Given the description of an element on the screen output the (x, y) to click on. 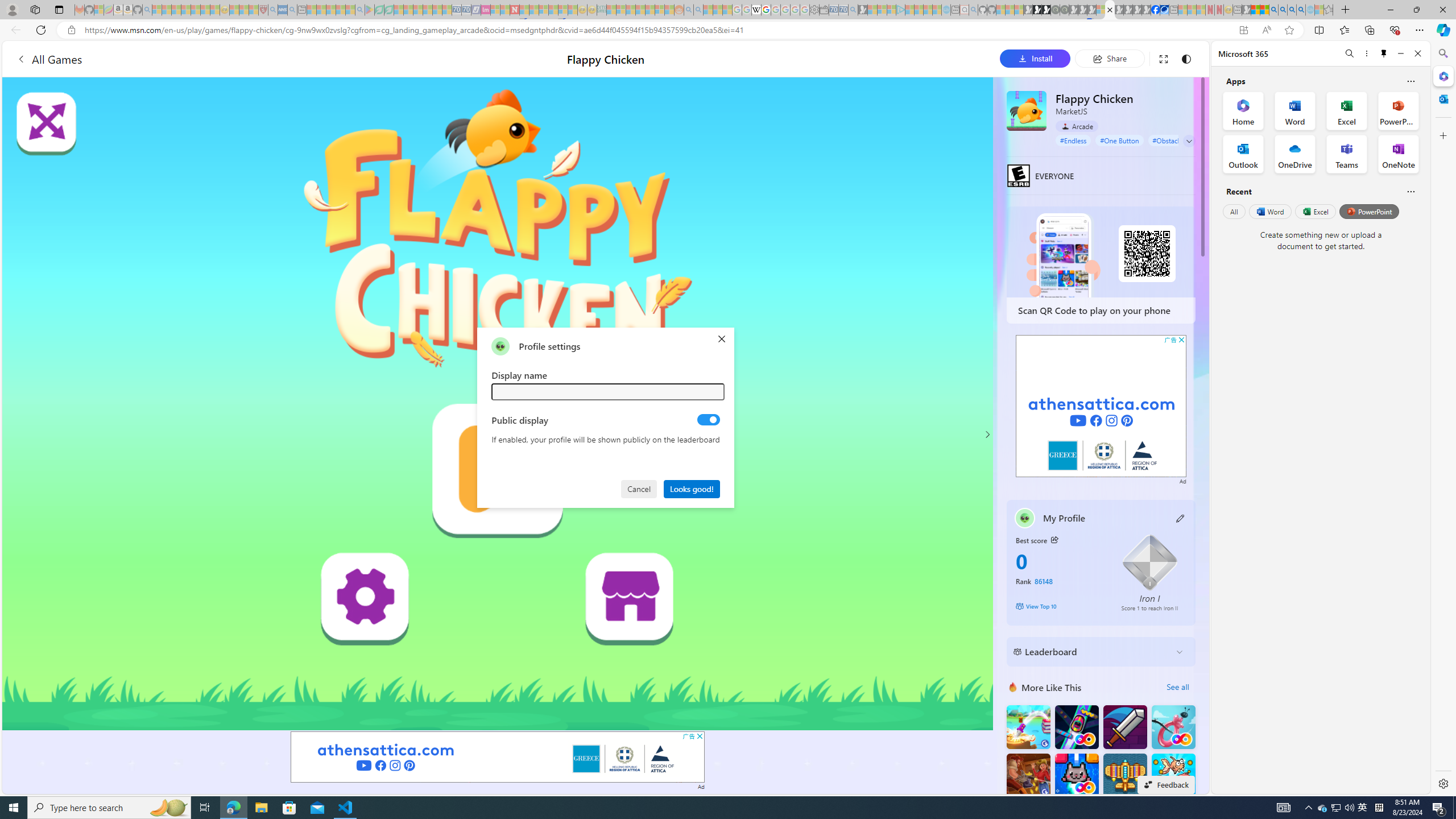
Outlook Office App (1243, 154)
New Report Confirms 2023 Was Record Hot | Watch - Sleeping (195, 9)
Class: control (1188, 140)
utah sues federal government - Search - Sleeping (291, 9)
Change to dark mode (1185, 58)
Google Chrome Internet Browser Download - Search Images (1300, 9)
Microsoft account | Privacy - Sleeping (891, 9)
OneNote Office App (1398, 154)
DITOGAMES AG Imprint - Sleeping (601, 9)
Arcade (1076, 126)
PowerPoint Office App (1398, 110)
